Given the description of an element on the screen output the (x, y) to click on. 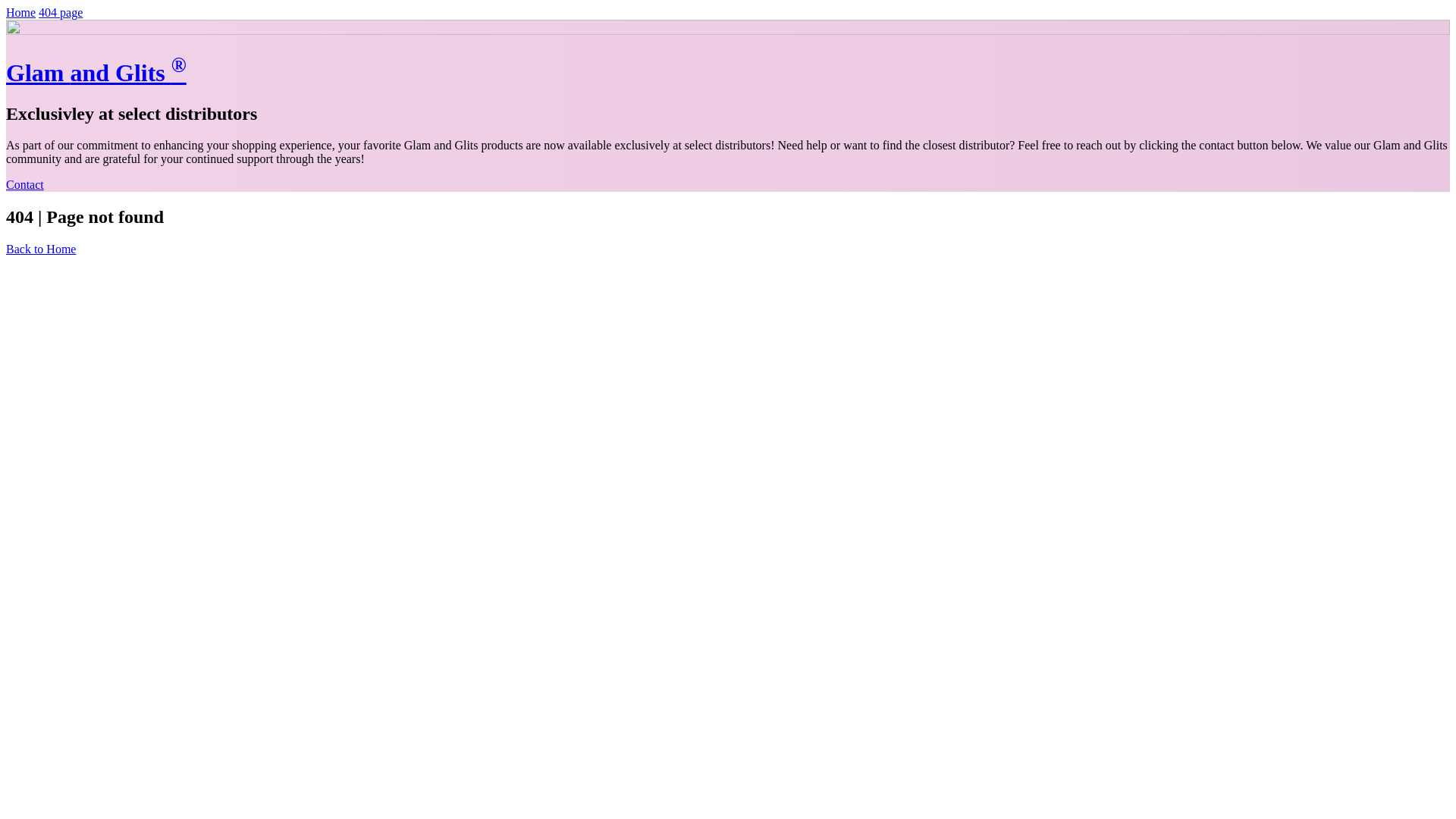
Contact (24, 184)
404 page (60, 11)
Home (19, 11)
